Given the description of an element on the screen output the (x, y) to click on. 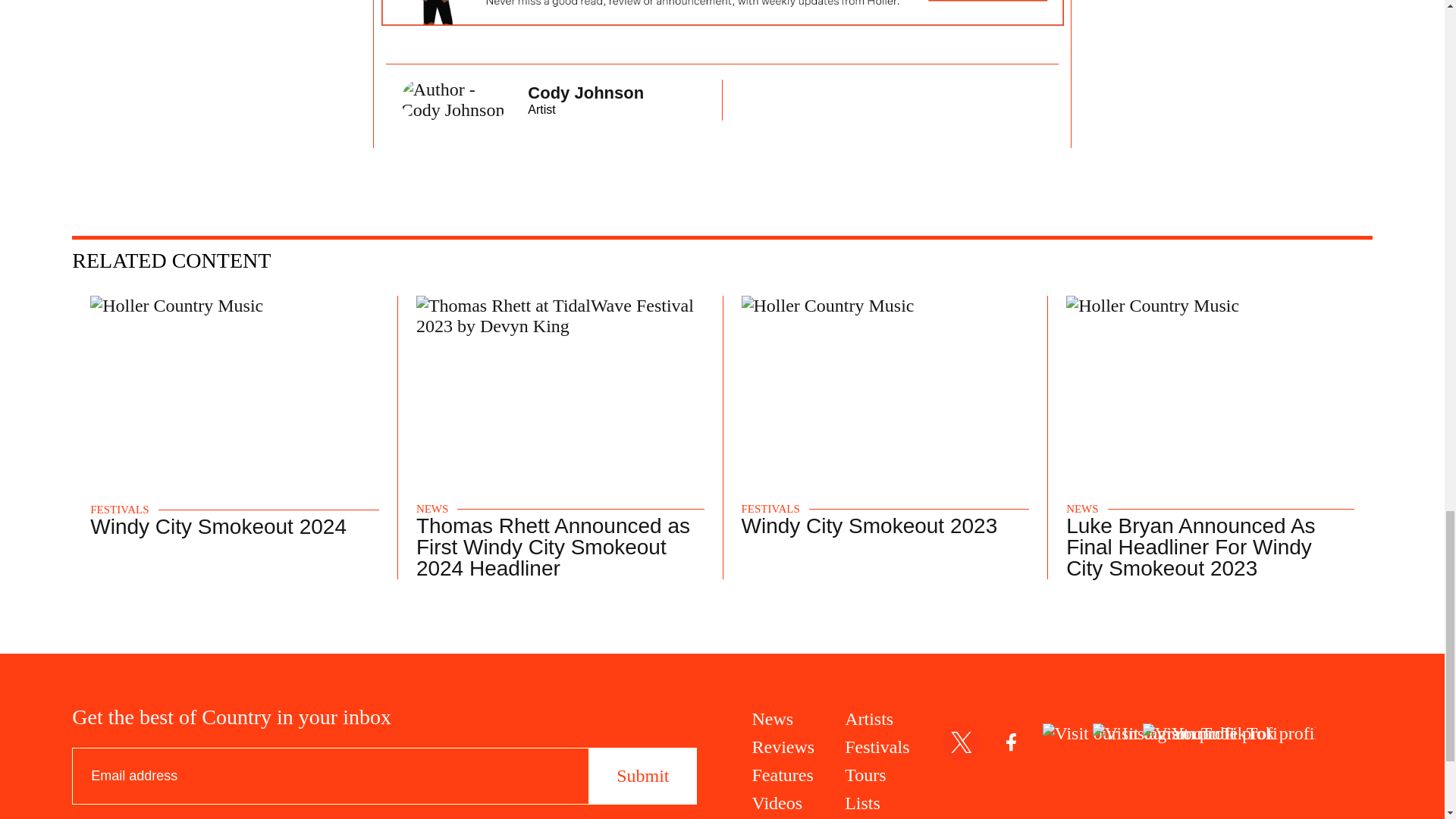
News (783, 719)
Submit (642, 775)
FESTIVALS (770, 508)
NEWS (1082, 508)
FESTIVALS (119, 509)
Windy City Smokeout 2023 (869, 525)
NEWS (553, 99)
